Given the description of an element on the screen output the (x, y) to click on. 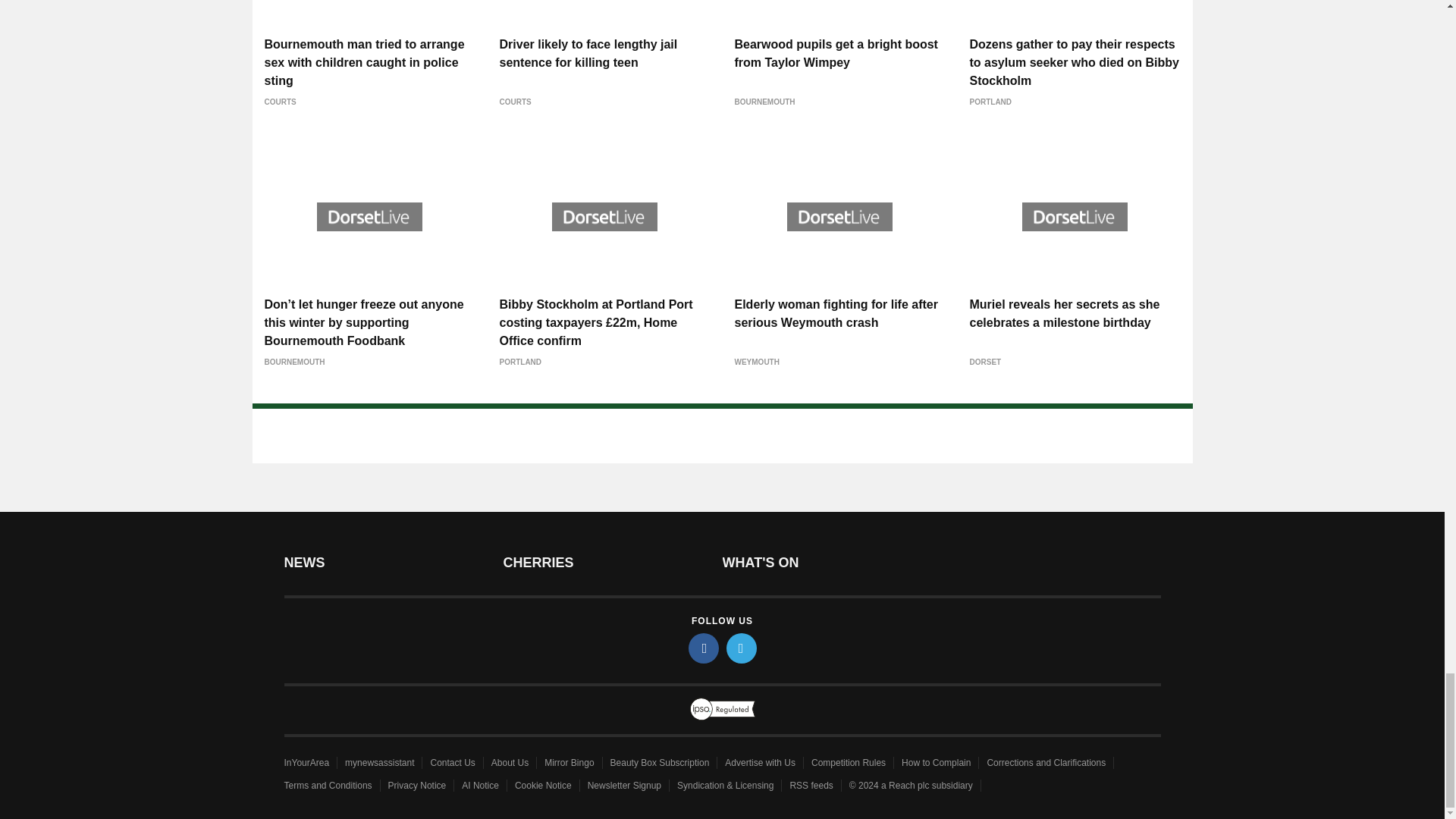
twitter (741, 648)
facebook (703, 648)
